Given the description of an element on the screen output the (x, y) to click on. 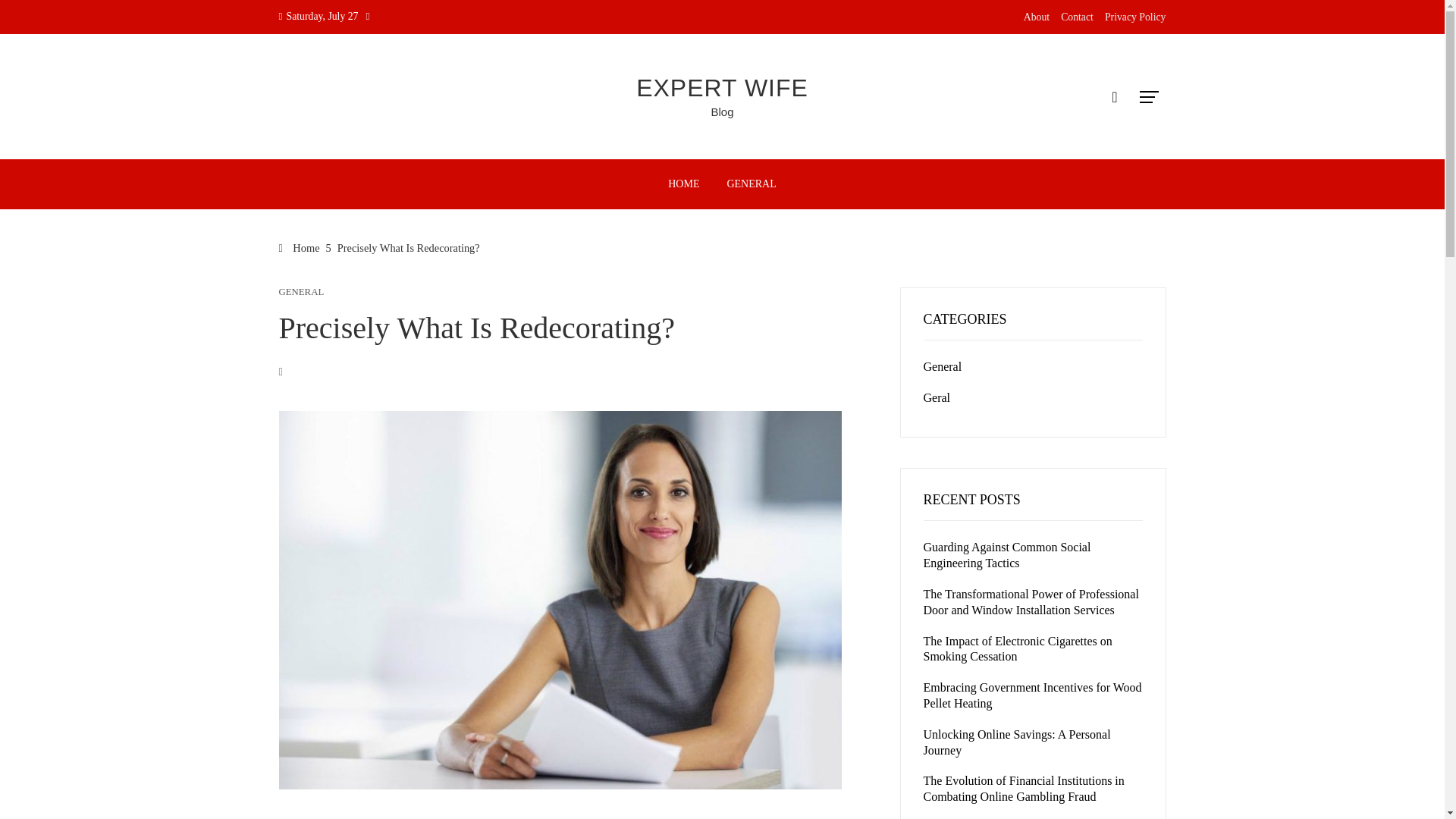
GENERAL (301, 292)
Unlocking Online Savings: A Personal Journey (1016, 742)
General (942, 366)
Privacy Policy (1135, 17)
Guarding Against Common Social Engineering Tactics (1006, 554)
The Impact of Electronic Cigarettes on Smoking Cessation (1017, 648)
Blog (721, 111)
GENERAL (750, 183)
EXPERT WIFE (722, 87)
Home (299, 247)
Geral (936, 397)
Contact (1077, 17)
HOME (683, 183)
